Given the description of an element on the screen output the (x, y) to click on. 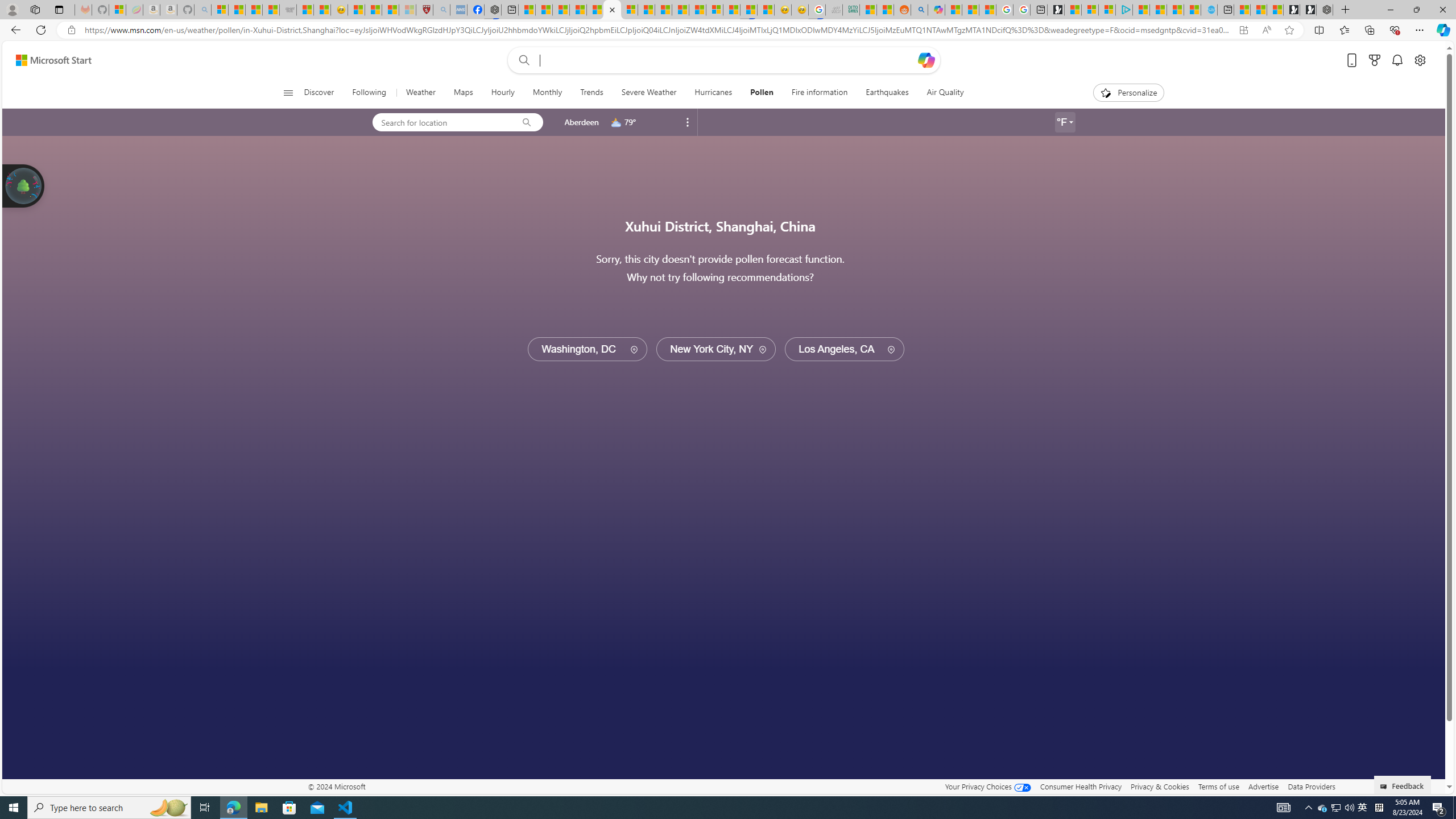
Join us in planting real trees to help our planet! (23, 184)
Hurricanes (713, 92)
Hurricanes (713, 92)
